Given the description of an element on the screen output the (x, y) to click on. 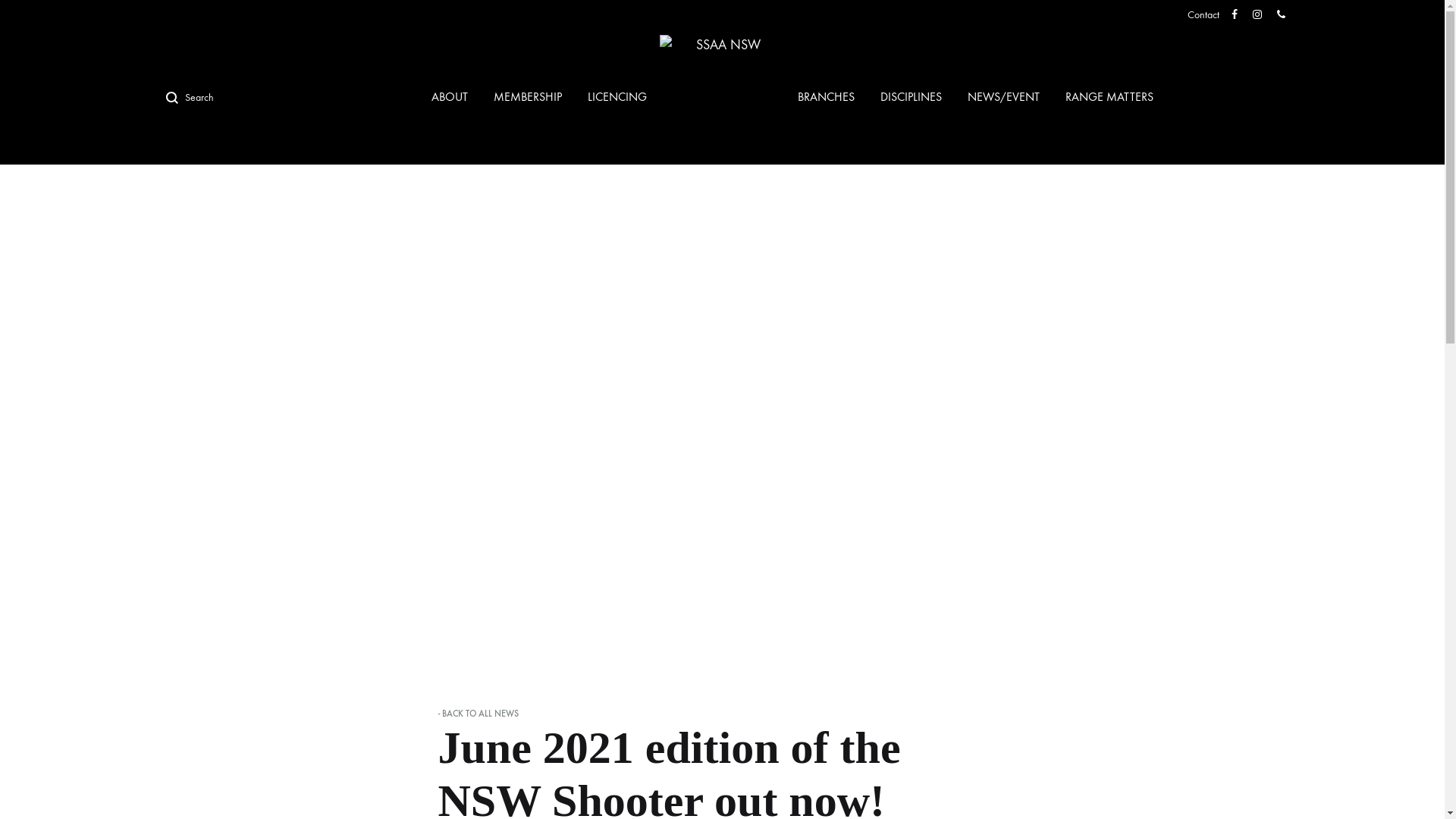
ABOUT Element type: text (449, 96)
NEWS/EVENT Element type: text (1003, 96)
Contact Element type: text (1203, 14)
- BACK TO ALL NEWS Element type: text (488, 713)
RANGE MATTERS Element type: text (1109, 96)
DISCIPLINES Element type: text (910, 96)
LICENCING Element type: text (616, 96)
MEMBERSHIP Element type: text (527, 96)
BRANCHES Element type: text (825, 96)
